Given the description of an element on the screen output the (x, y) to click on. 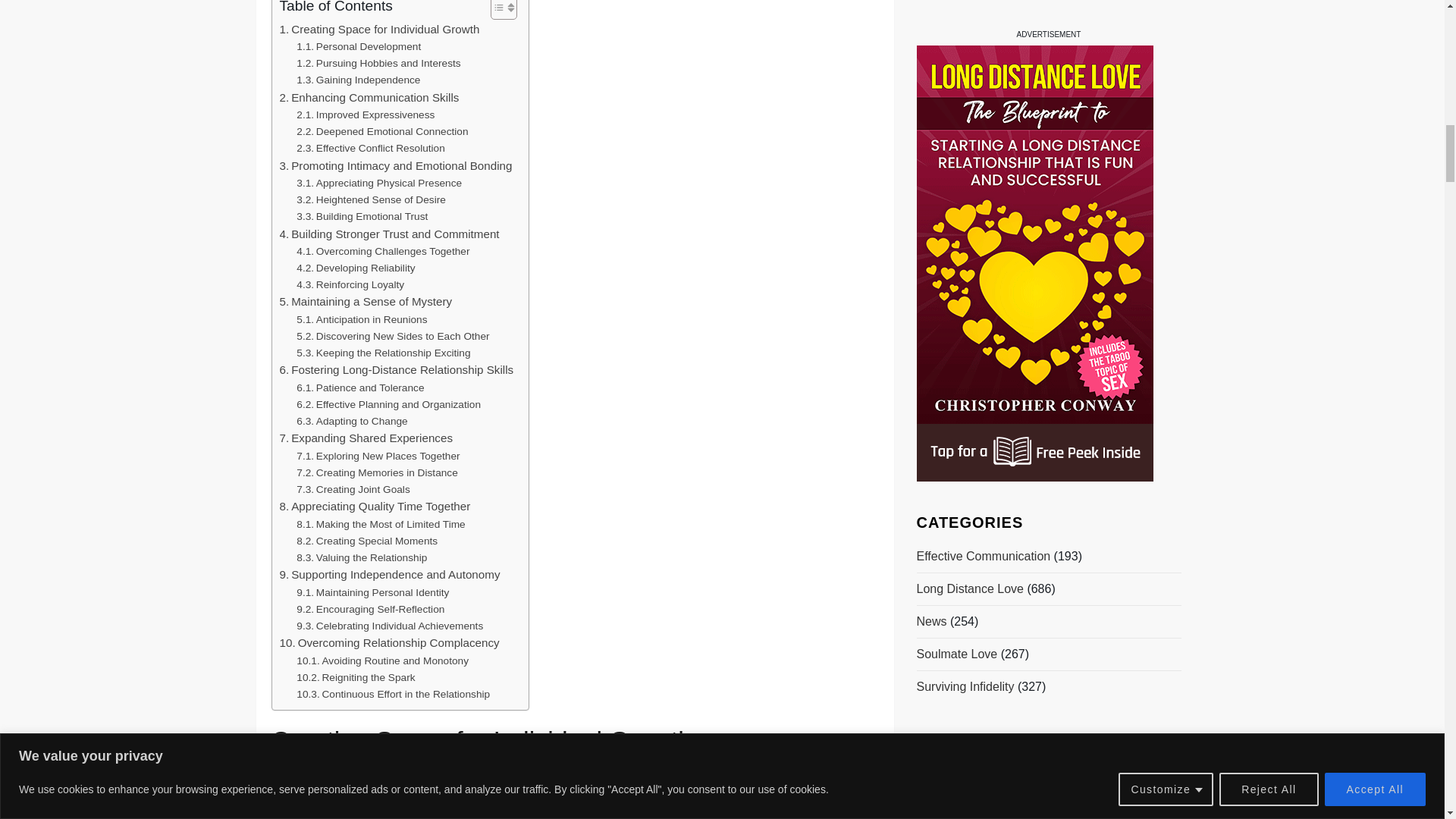
Pursuing Hobbies and Interests (378, 63)
Improved Expressiveness (365, 115)
Heightened Sense of Desire (371, 199)
Effective Conflict Resolution (371, 148)
Promoting Intimacy and Emotional Bonding (395, 166)
Enhancing Communication Skills (368, 97)
Enhancing Communication Skills (368, 97)
Deepened Emotional Connection (382, 131)
Gaining Independence (358, 80)
Gaining Independence (358, 80)
